Given the description of an element on the screen output the (x, y) to click on. 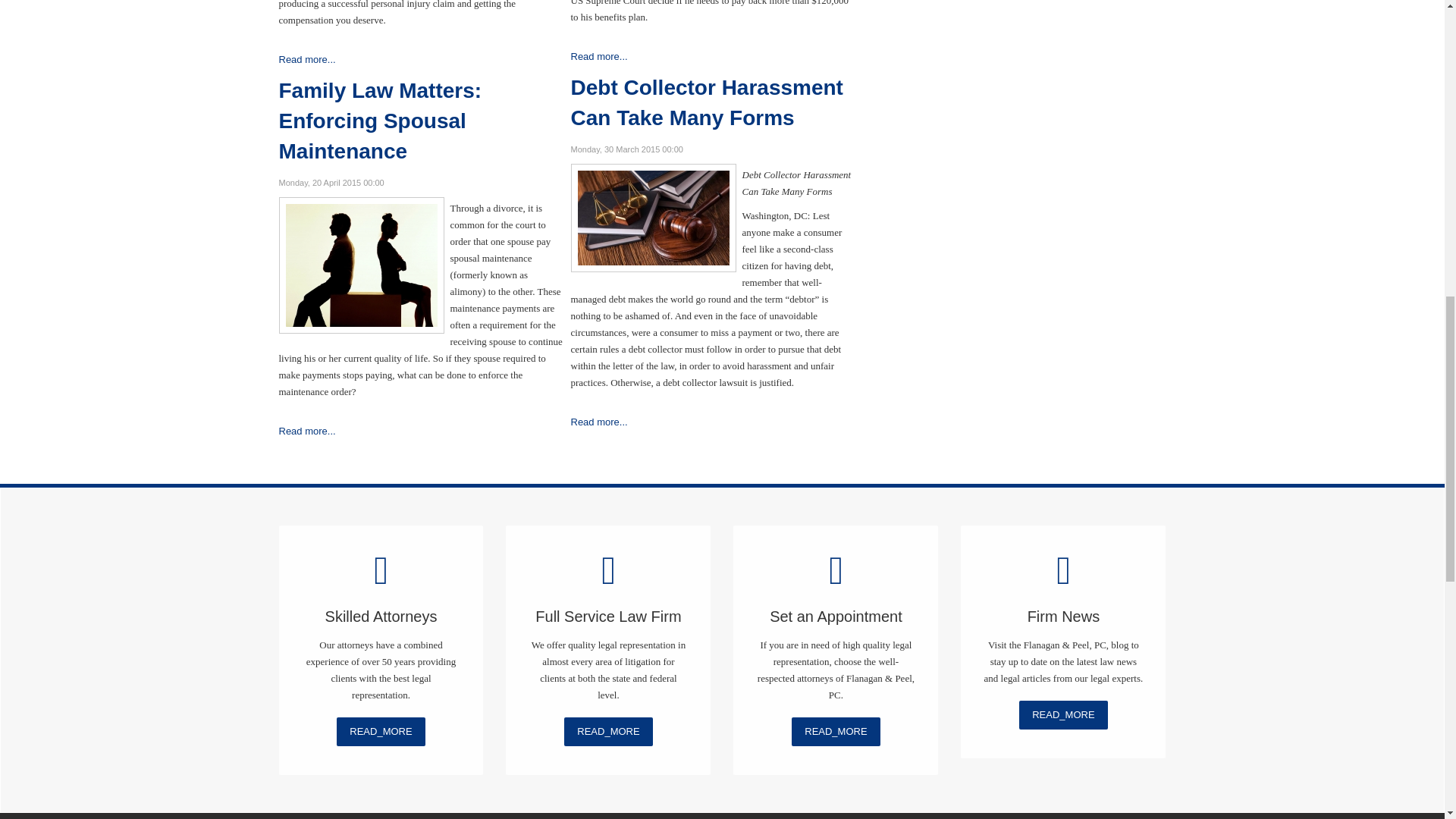
Family Law Matters: Enforcing Spousal Maintenance (361, 264)
Debt Collector Harassment Can Take Many Forms (652, 216)
